Given the description of an element on the screen output the (x, y) to click on. 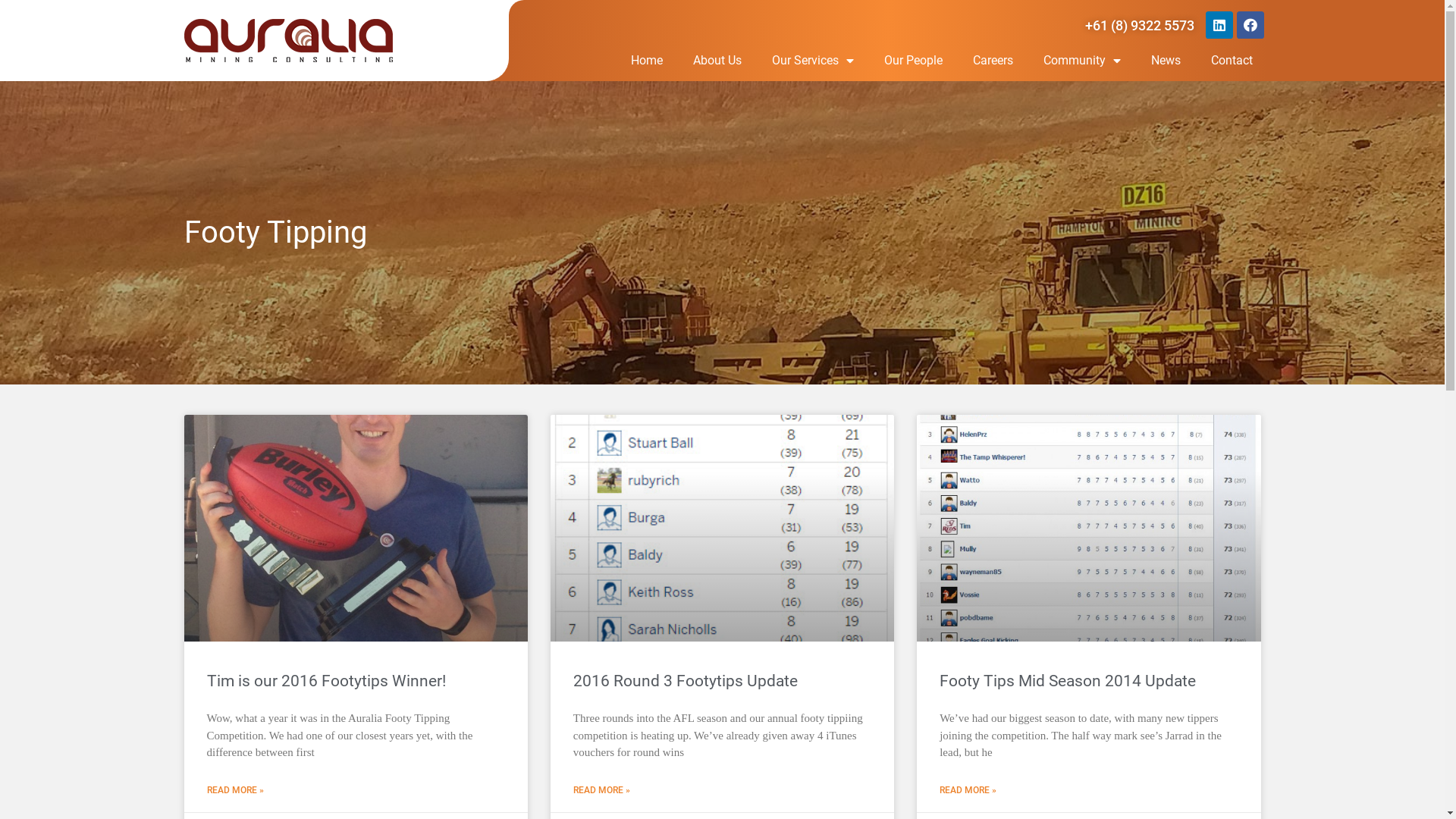
News Element type: text (1165, 60)
Tim is our 2016 Footytips Winner! Element type: text (325, 680)
Our Services Element type: text (812, 60)
Footy Tips Mid Season 2014 Update Element type: text (1067, 680)
Home Element type: text (646, 60)
Community Element type: text (1081, 60)
Contact Element type: text (1231, 60)
Careers Element type: text (992, 60)
+61 (8) 9322 5573 Element type: text (1139, 25)
Our People Element type: text (913, 60)
2016 Round 3 Footytips Update Element type: text (685, 680)
About Us Element type: text (716, 60)
